Given the description of an element on the screen output the (x, y) to click on. 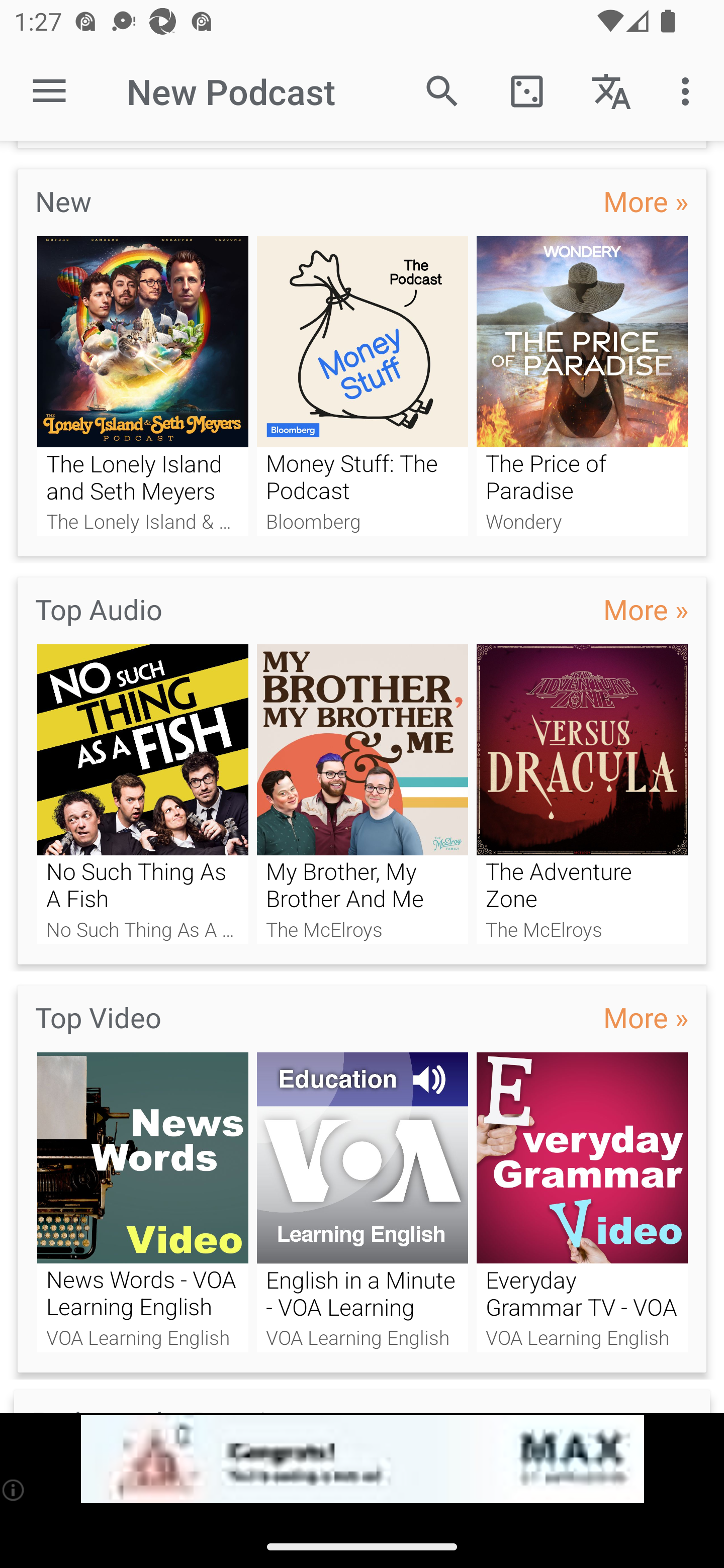
Open navigation sidebar (49, 91)
Search (442, 90)
Random pick (526, 90)
Podcast languages (611, 90)
More options (688, 90)
More » (645, 200)
Money Stuff: The Podcast Bloomberg (362, 386)
The Price of Paradise Wondery (581, 386)
More » (645, 608)
No Such Thing As A Fish (142, 793)
My Brother, My Brother And Me The McElroys (362, 793)
The Adventure Zone The McElroys (581, 793)
More » (645, 1017)
app-monetization (362, 1459)
(i) (14, 1489)
